Given the description of an element on the screen output the (x, y) to click on. 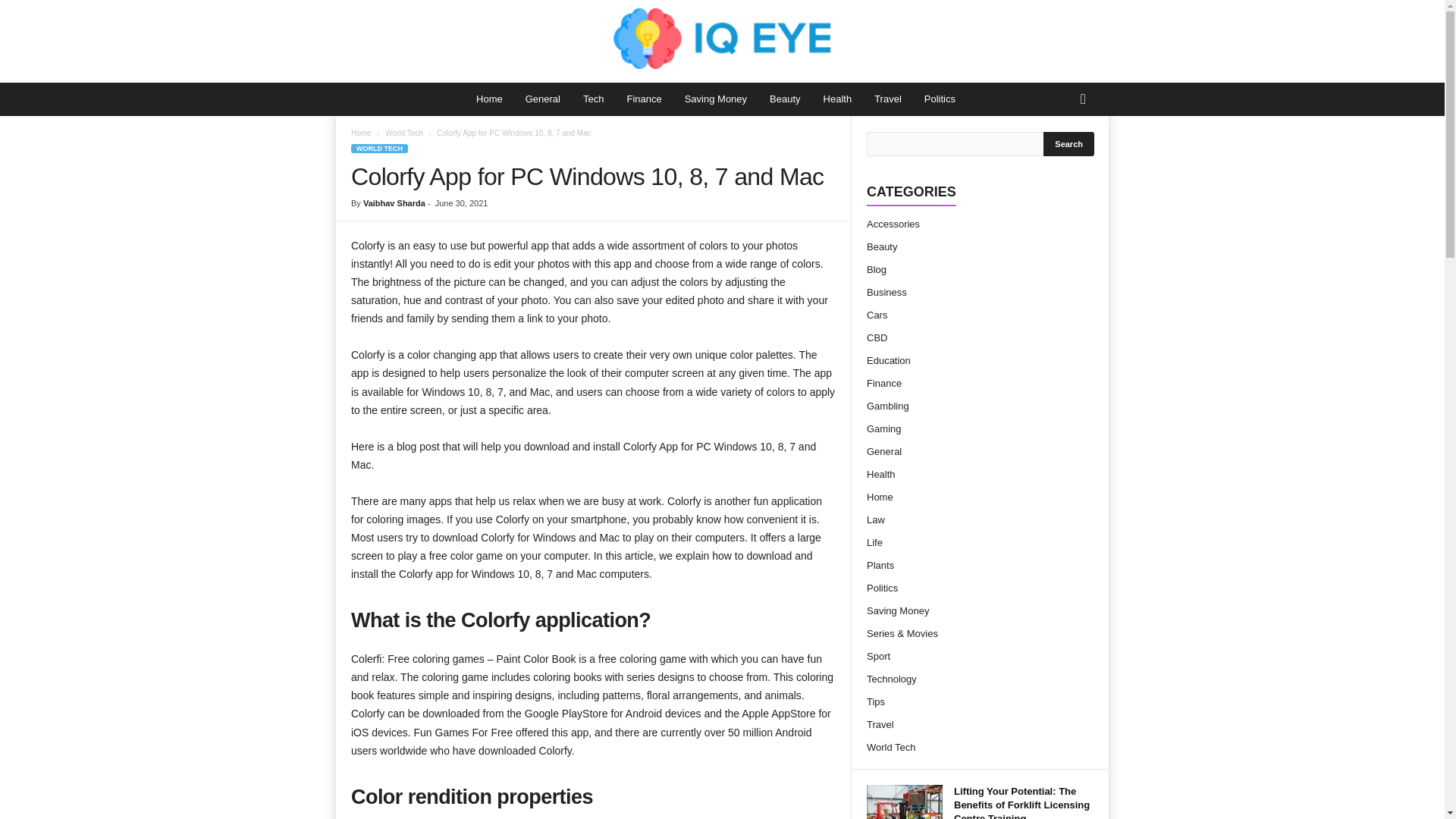
Travel (887, 99)
World Tech (404, 132)
Finance (643, 99)
Home (488, 99)
Search (1068, 143)
Tech (593, 99)
Vaibhav Sharda (393, 203)
View all posts in World Tech (404, 132)
Health (837, 99)
Home (360, 132)
